Given the description of an element on the screen output the (x, y) to click on. 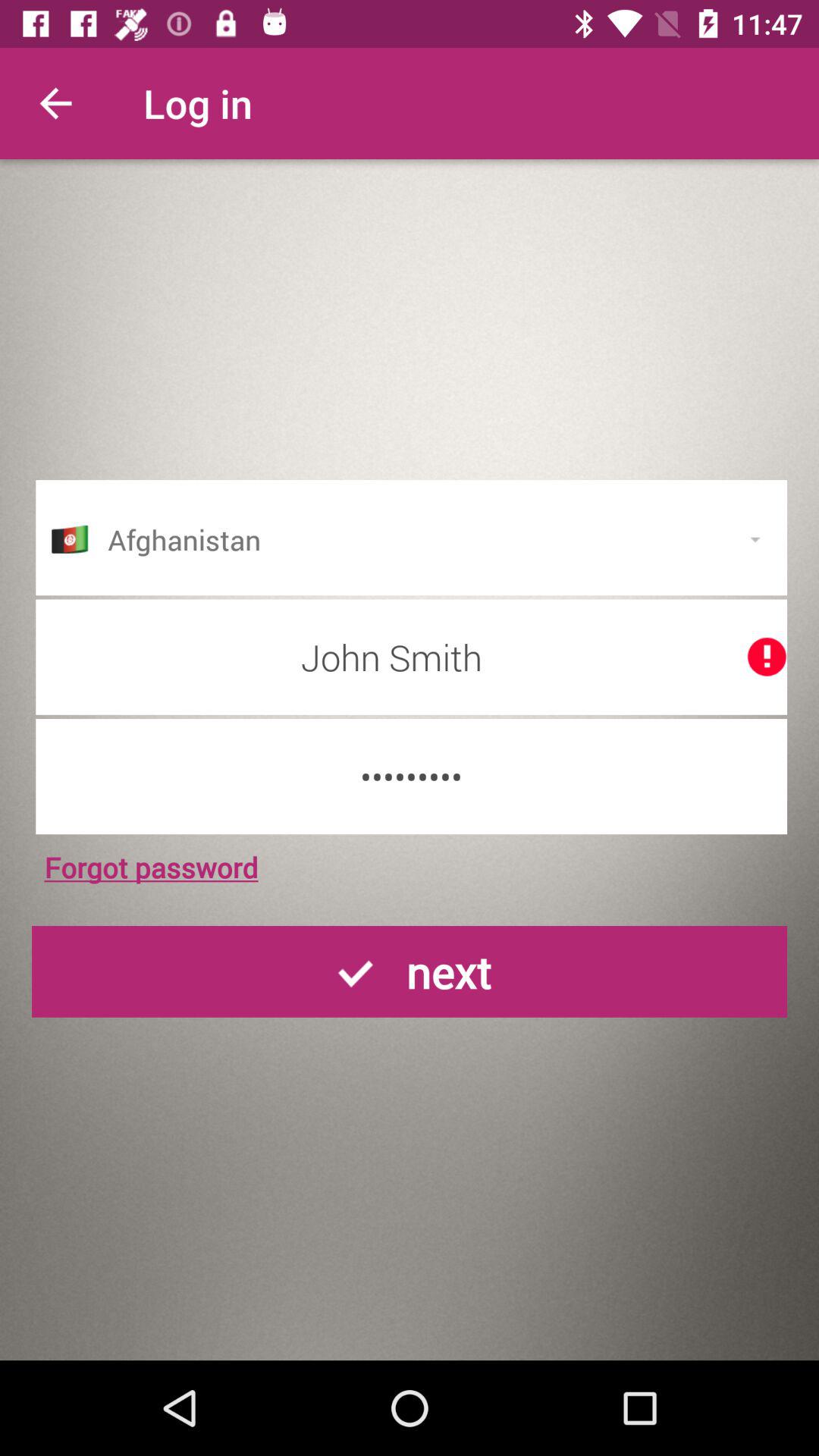
open john smith icon (411, 657)
